Given the description of an element on the screen output the (x, y) to click on. 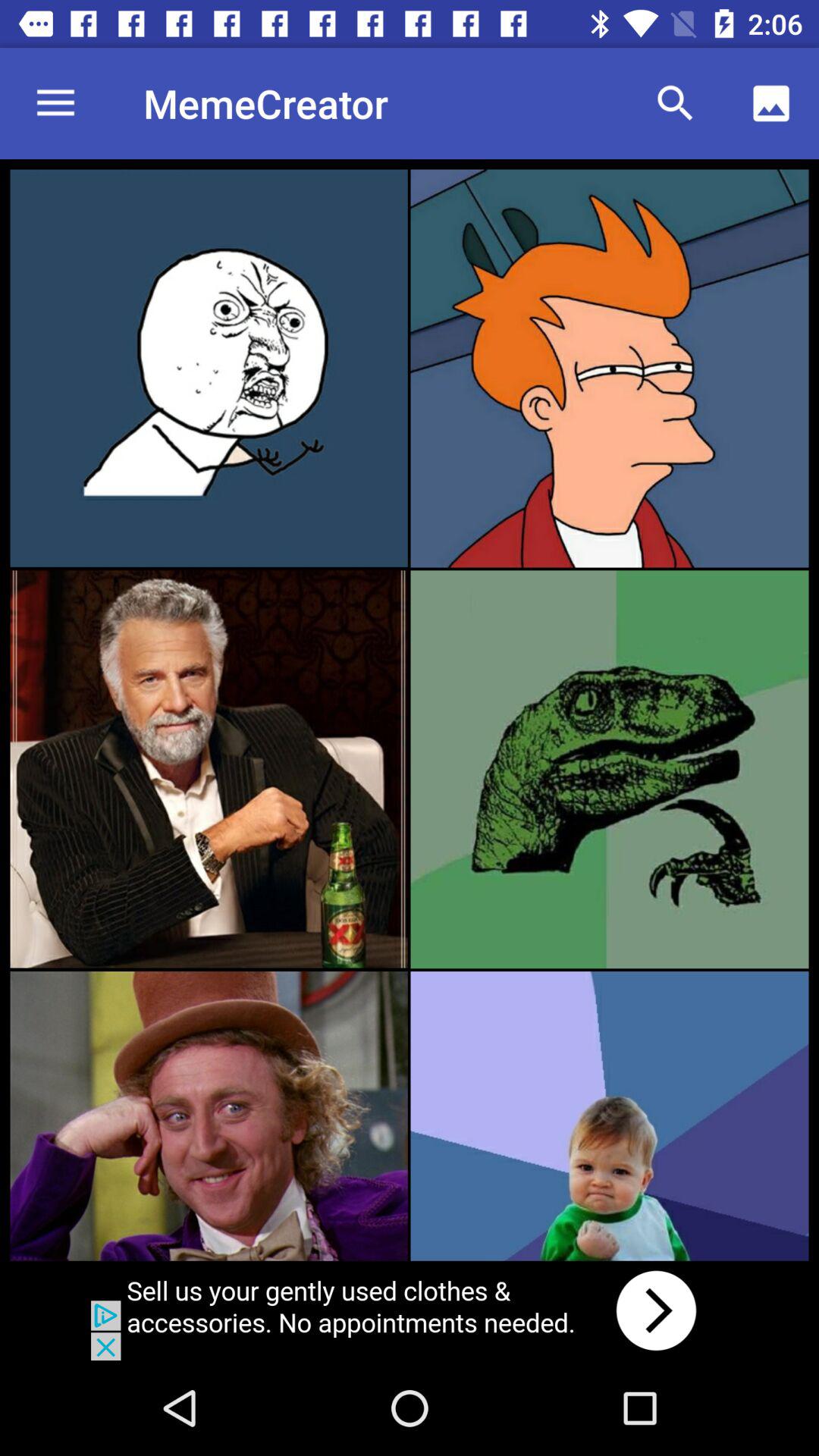
select option (609, 1115)
